Given the description of an element on the screen output the (x, y) to click on. 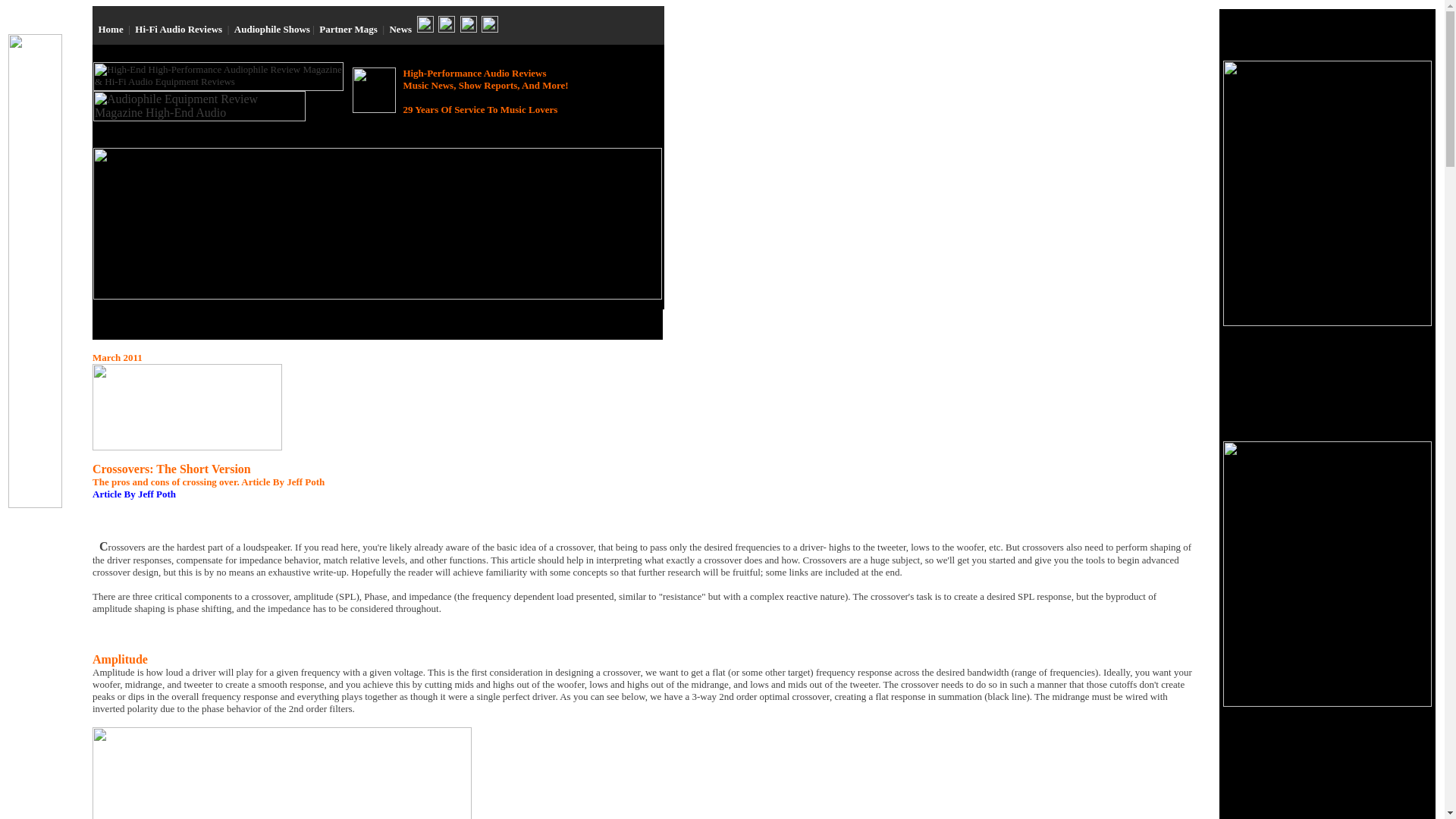
Partner Mags (347, 29)
Article By Jeff Poth (134, 493)
Audiophile Shows (272, 29)
Hi-Fi Audio Reviews (178, 29)
News (400, 29)
Home (111, 29)
